Given the description of an element on the screen output the (x, y) to click on. 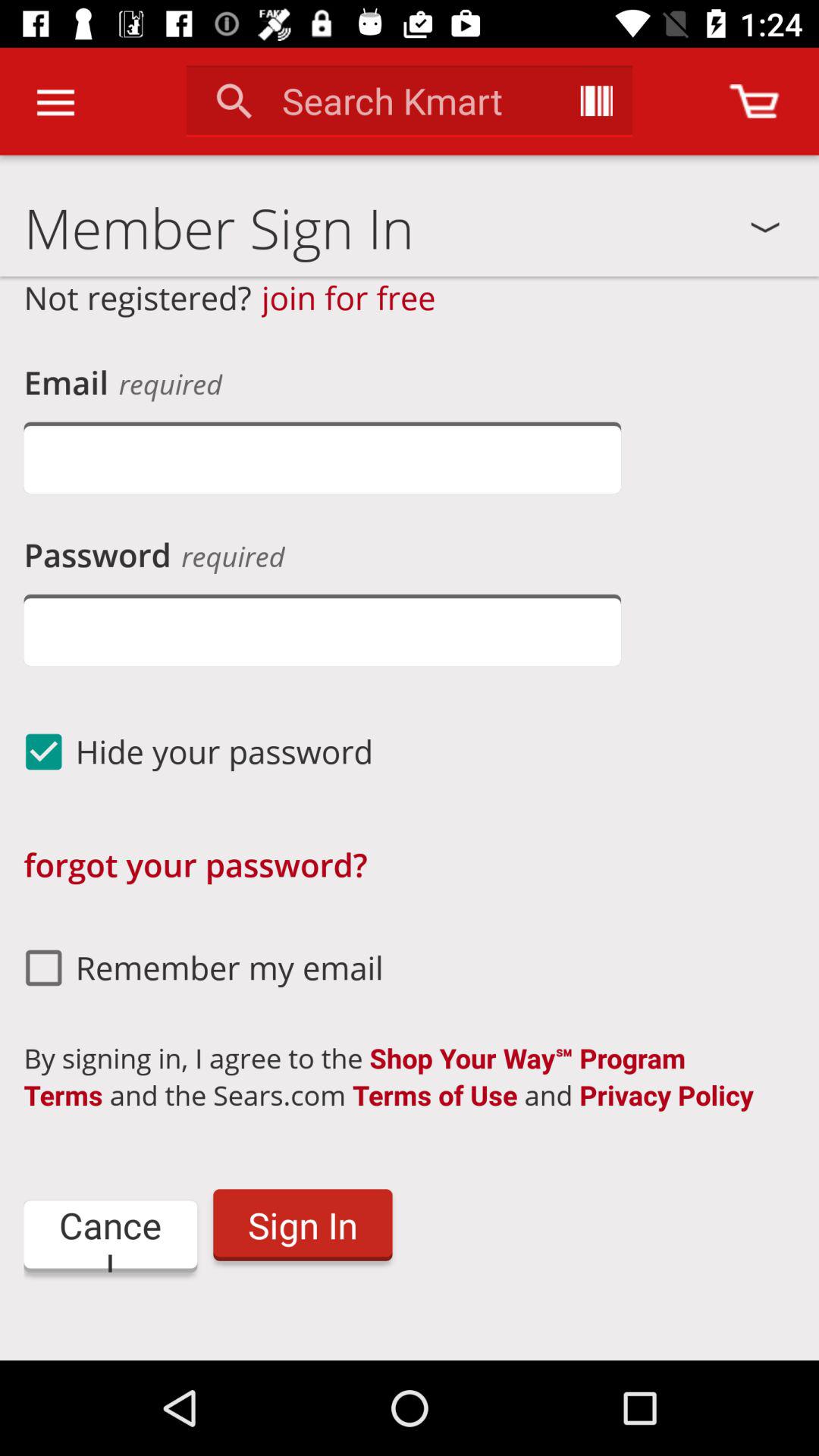
put your email address here (322, 457)
